Given the description of an element on the screen output the (x, y) to click on. 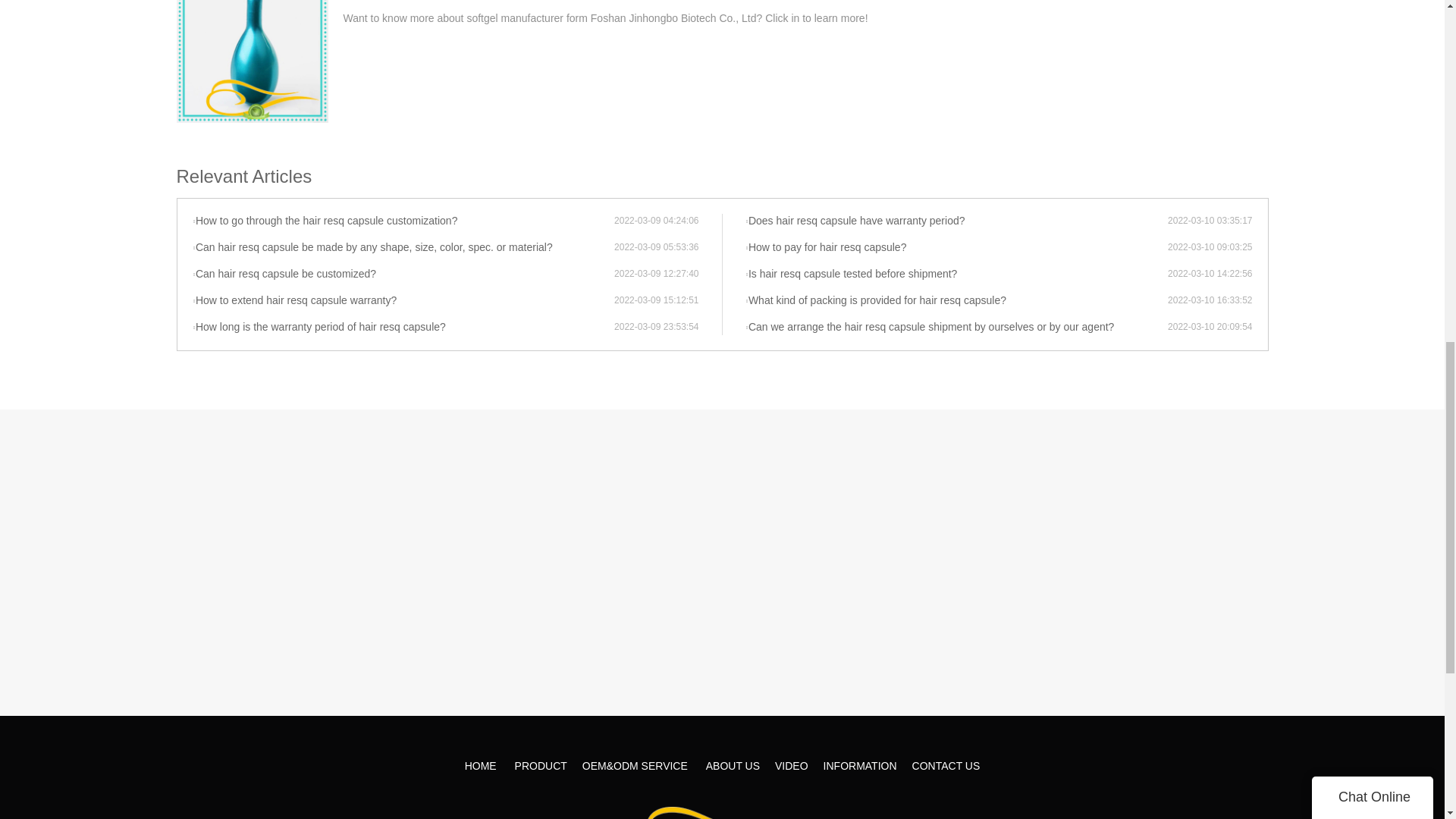
How to pay for hair resq capsule? (955, 247)
PRODUCT (541, 766)
HOME (480, 766)
How long is the warranty period of hair resq capsule? (403, 327)
Can hair resq capsule be customized? (403, 273)
ABOUT US (733, 766)
Is hair resq capsule tested before shipment? (955, 273)
How to extend hair resq capsule warranty? (403, 300)
